Given the description of an element on the screen output the (x, y) to click on. 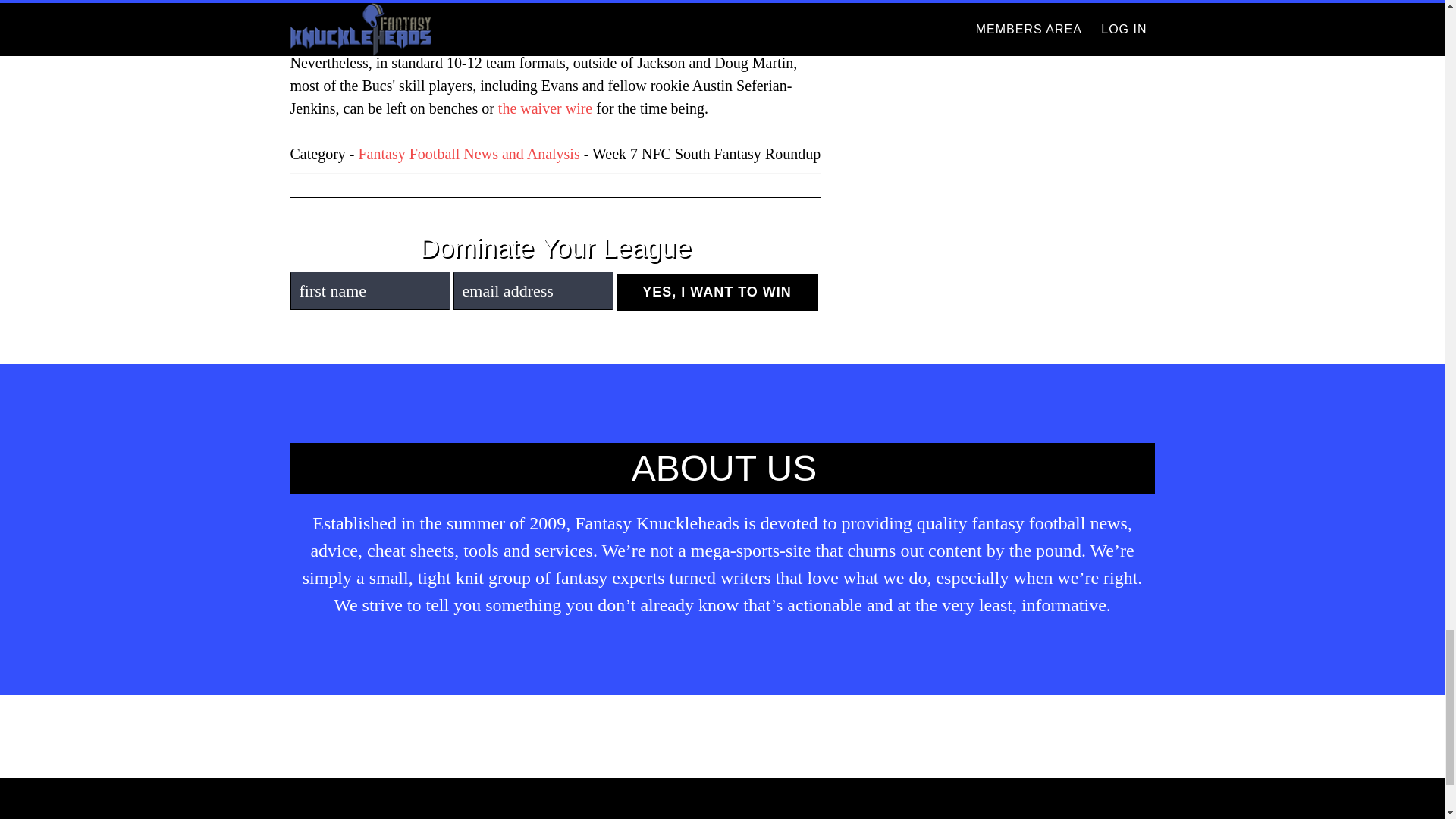
the waiver wire (544, 108)
Yes, I Want To Win (715, 292)
Waiver Wire Week 7 (544, 108)
Yes, I Want To Win (715, 292)
Fantasy Football News and Analysis (468, 153)
